Given the description of an element on the screen output the (x, y) to click on. 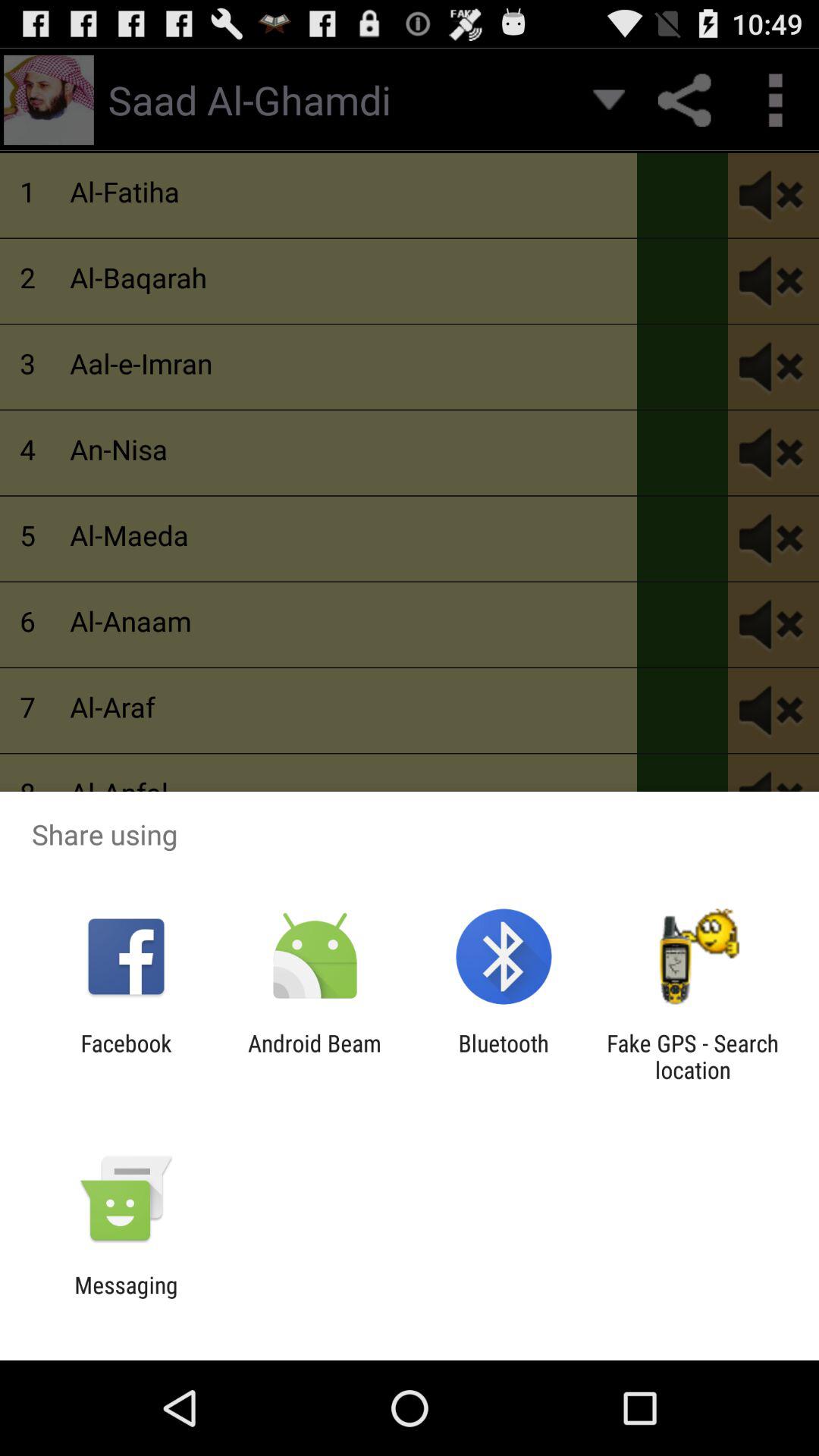
tap the fake gps search (692, 1056)
